Given the description of an element on the screen output the (x, y) to click on. 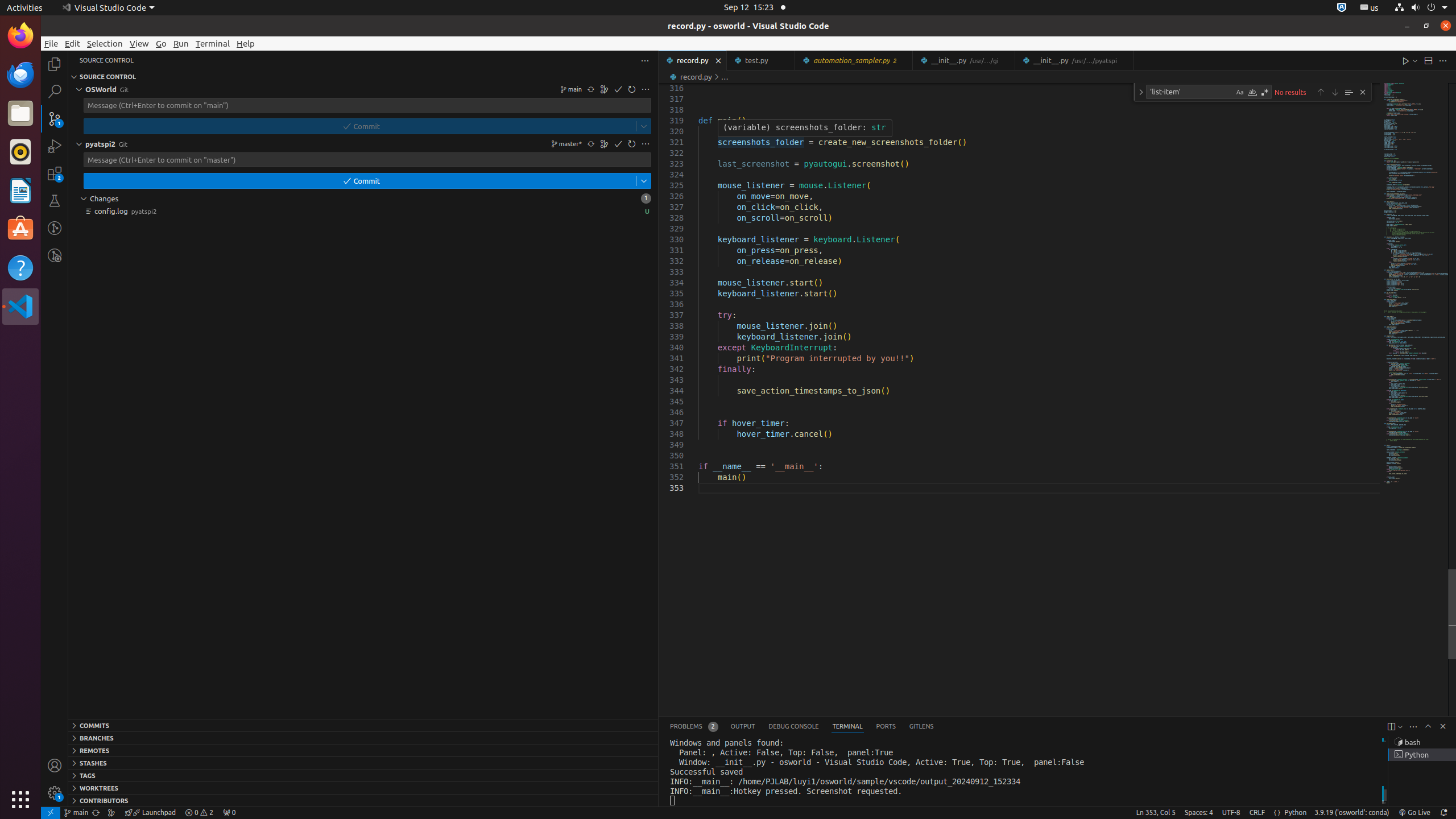
Run Python File Element type: push-button (1405, 60)
Show Commit Graph Element type: push-button (604, 143)
Remotes Section Element type: push-button (363, 749)
Manage - New Code update available. Element type: push-button (54, 792)
